Given the description of an element on the screen output the (x, y) to click on. 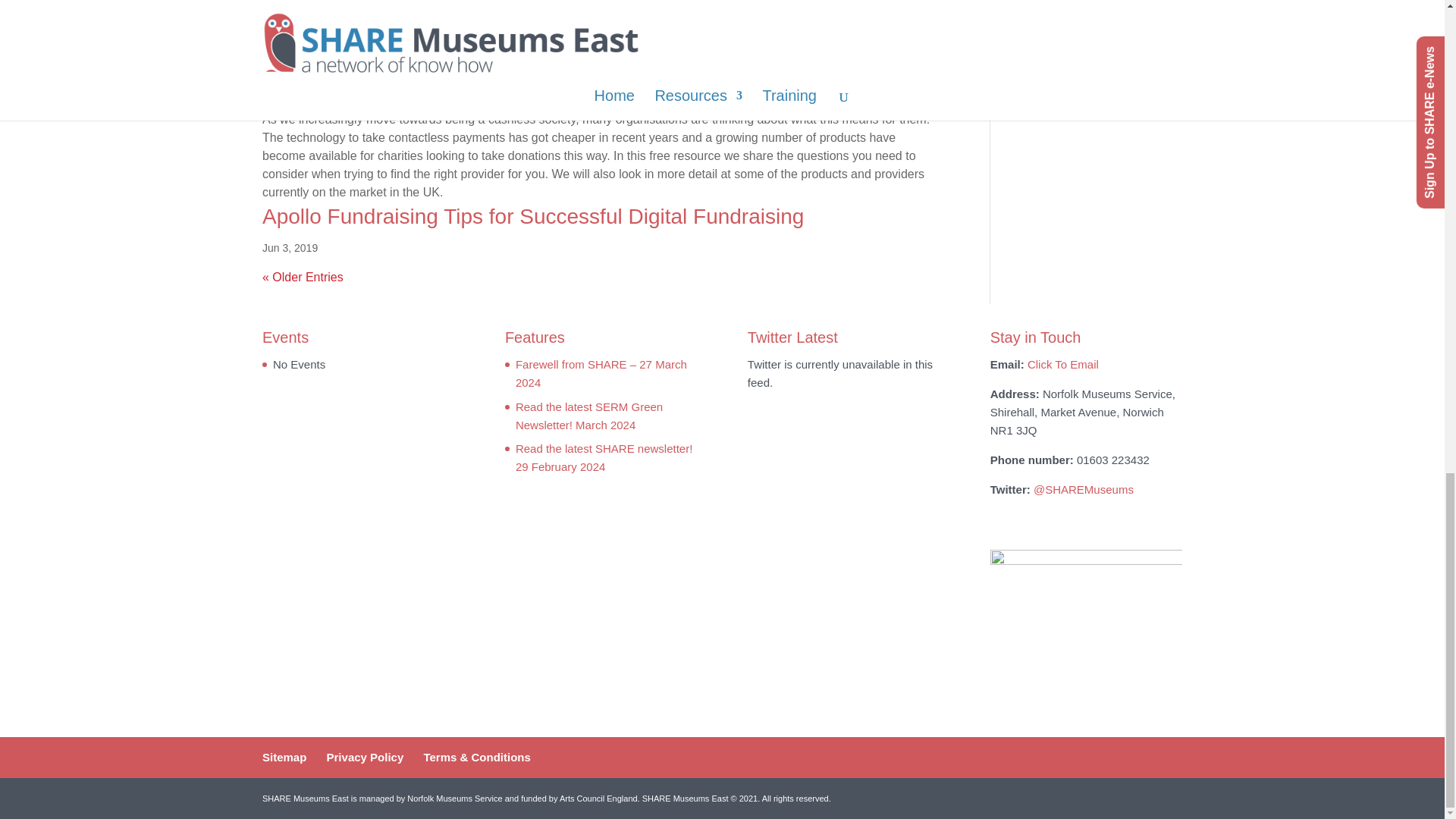
Read the latest SERM Green Newsletter! March 2024 (588, 415)
Apollo Fundraising Tips for Successful Digital Fundraising (532, 216)
Click To Email (1063, 364)
Sitemap (283, 757)
Privacy Policy (365, 757)
Read the latest SHARE newsletter! 29 February 2024 (604, 457)
